Given the description of an element on the screen output the (x, y) to click on. 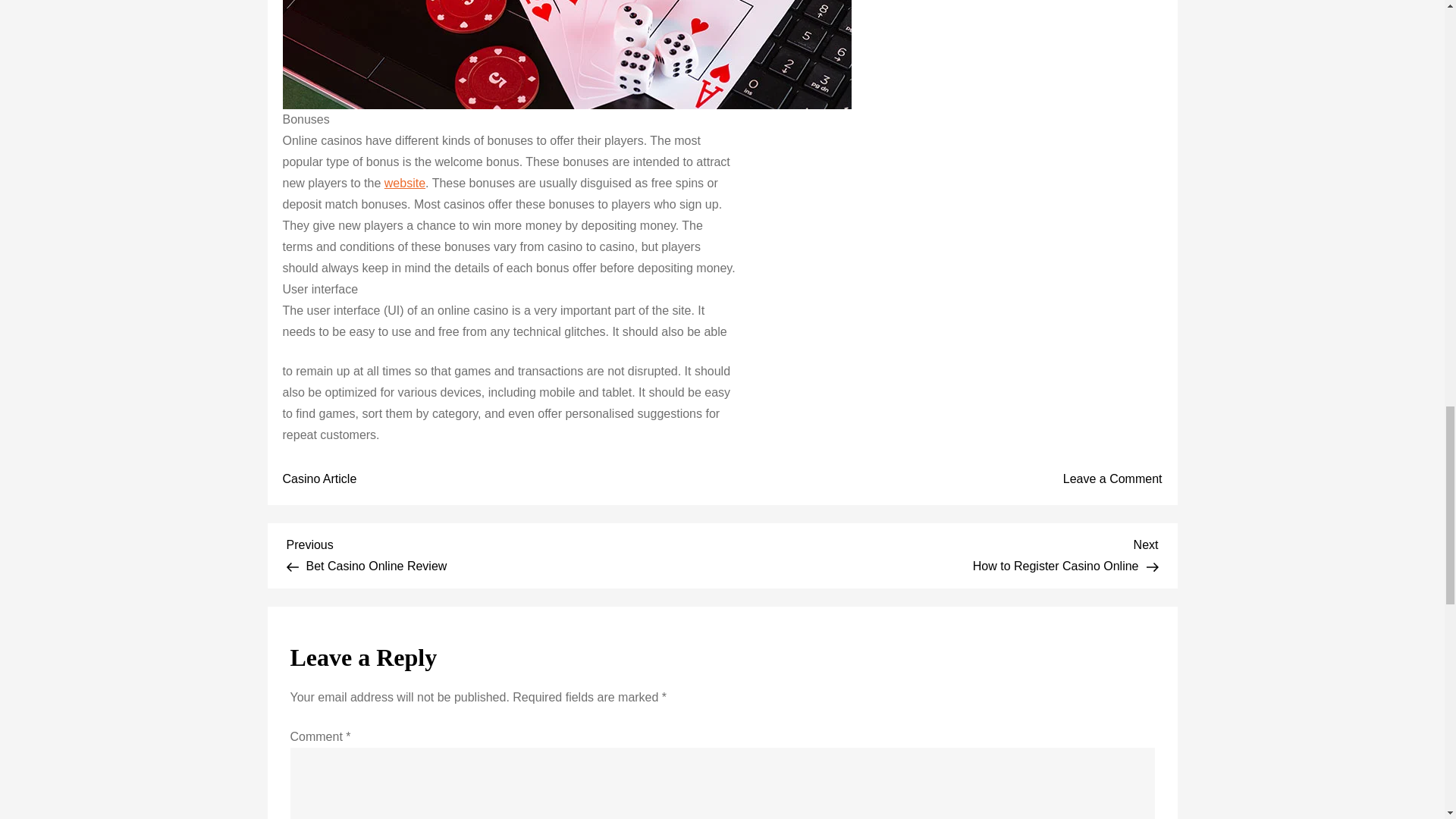
Casino Article (319, 479)
website (404, 182)
